Given the description of an element on the screen output the (x, y) to click on. 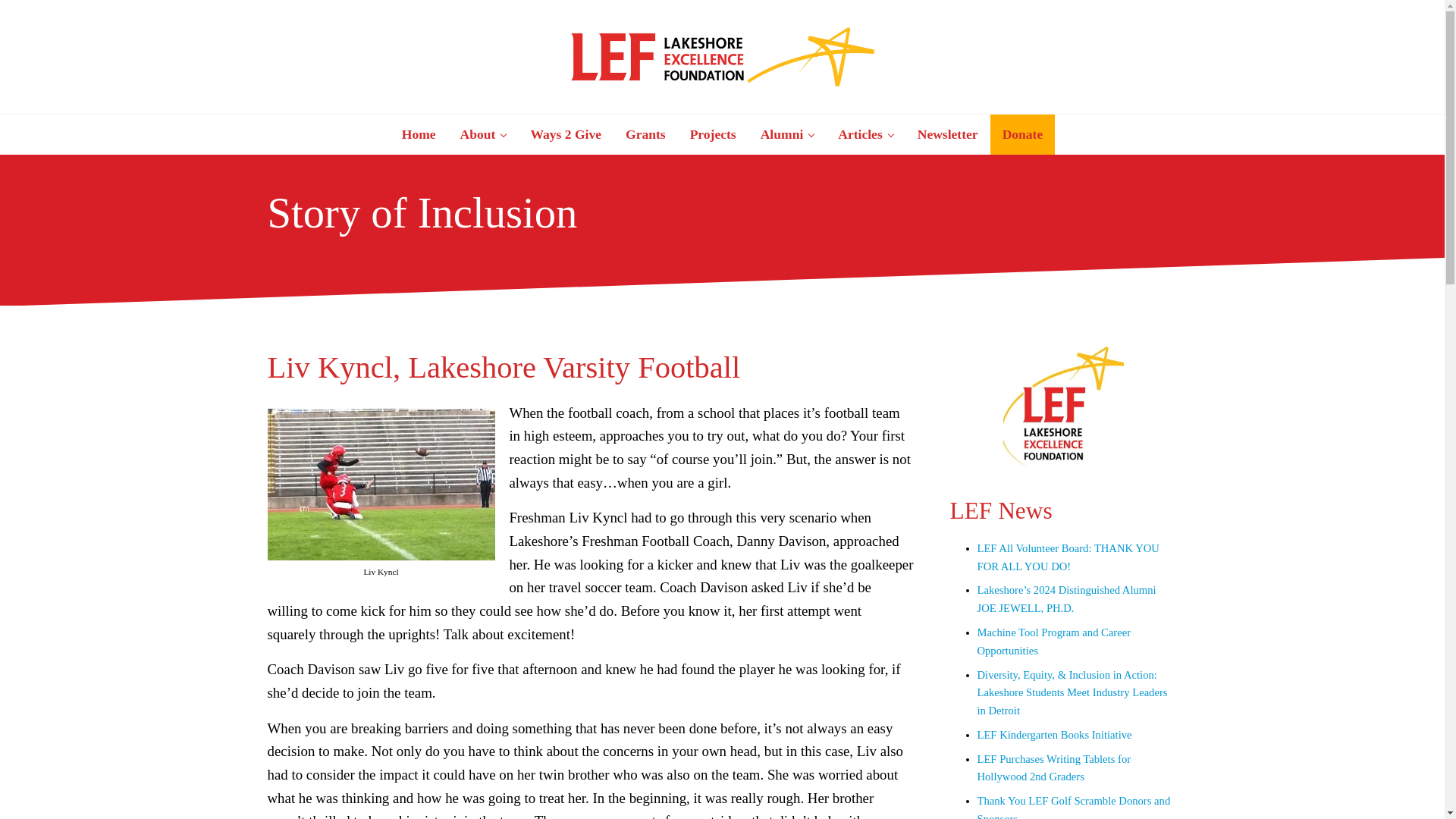
Ways 2 Give (565, 134)
Donate (1022, 134)
About (483, 134)
Home (419, 134)
Newsletter (947, 134)
Projects (713, 134)
Grants (645, 134)
Articles (864, 134)
Alumni (787, 134)
